Given the description of an element on the screen output the (x, y) to click on. 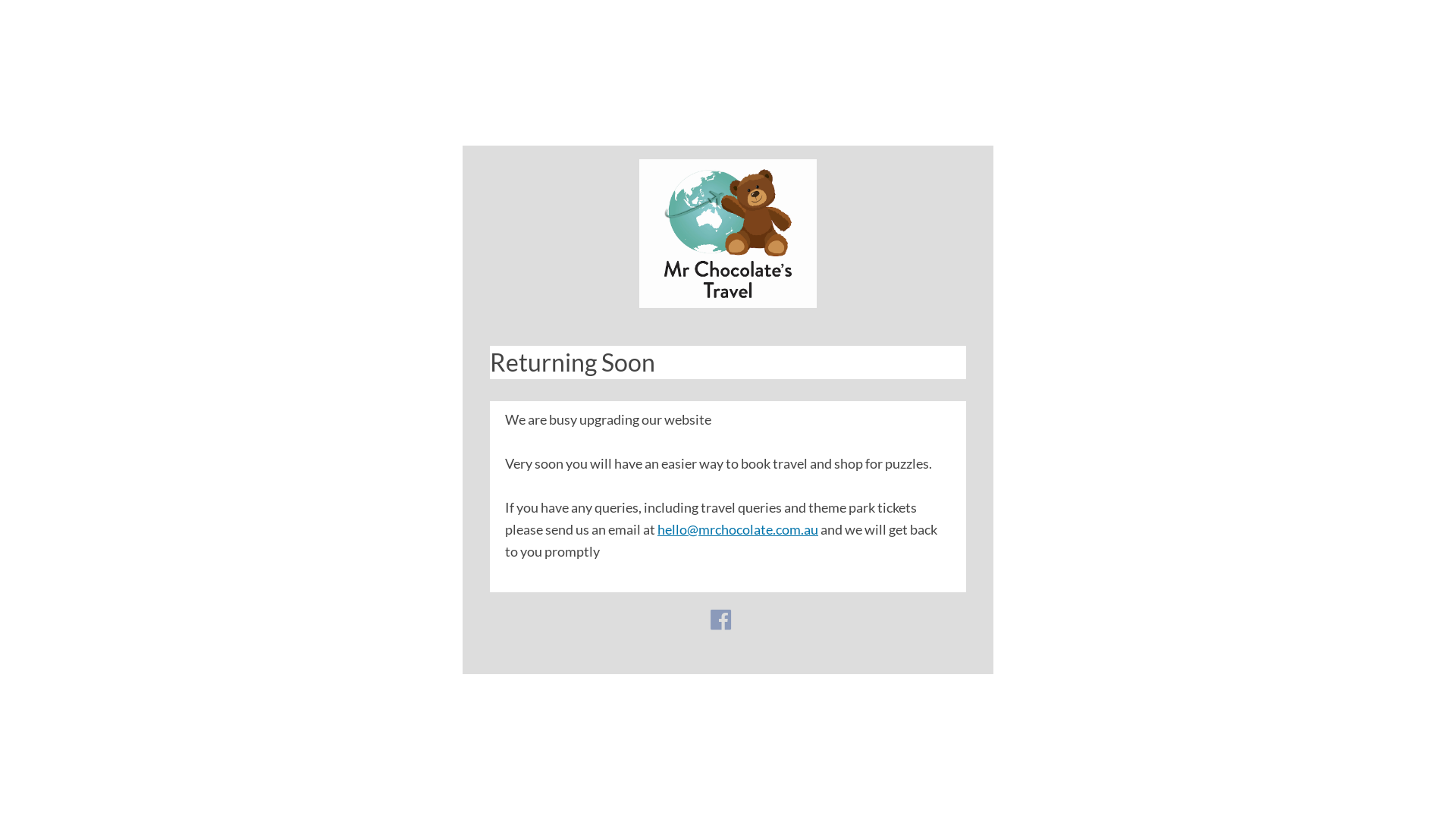
hello@mrchocolate.com.au Element type: text (737, 528)
